Given the description of an element on the screen output the (x, y) to click on. 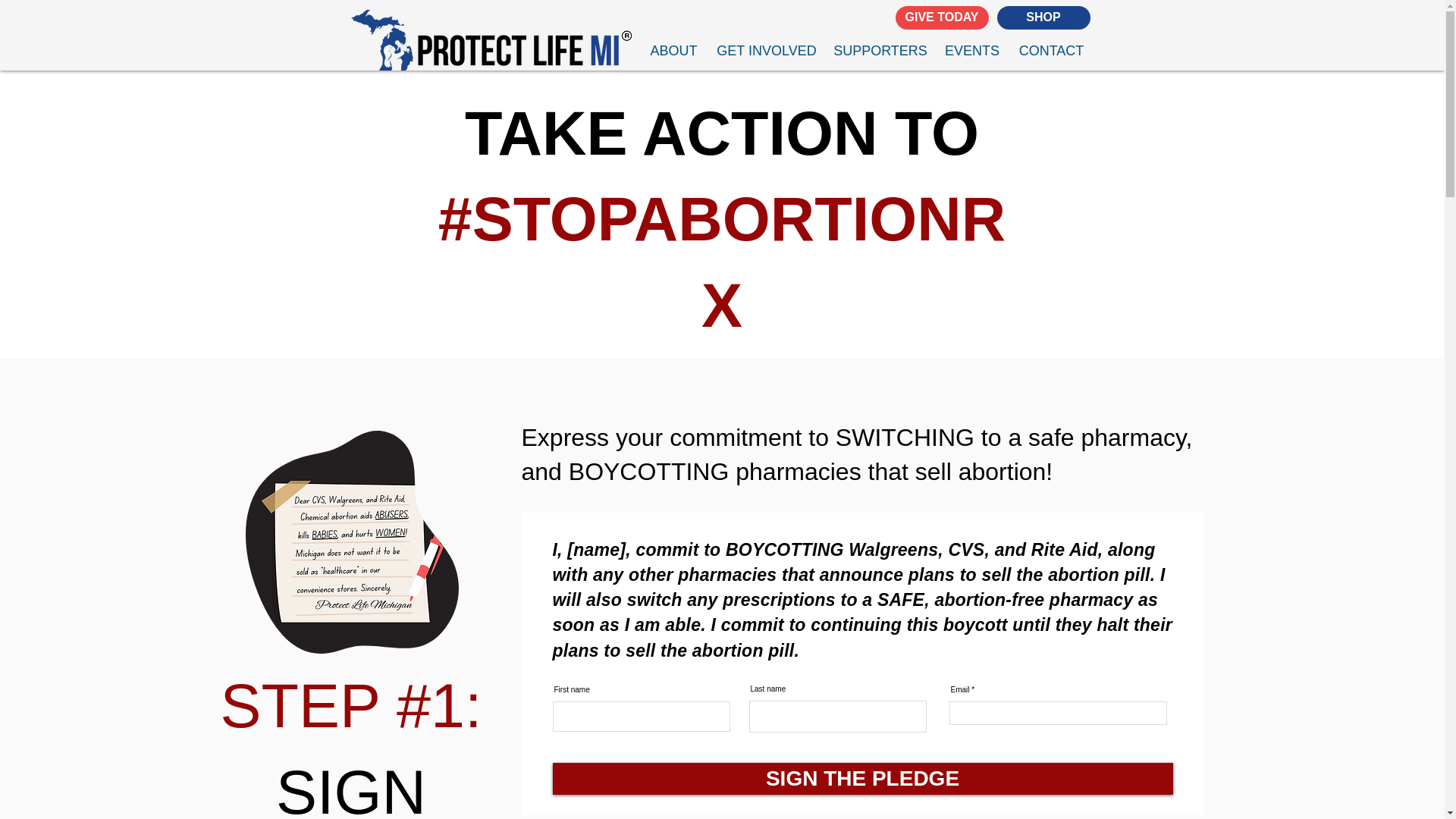
SHOP (1042, 17)
ABOUT (673, 50)
SIGN THE PLEDGE (861, 778)
SUPPORTERS (879, 50)
CONTACT (1051, 50)
EVENTS (972, 50)
GIVE TODAY (941, 17)
GET INVOLVED (766, 50)
